Given the description of an element on the screen output the (x, y) to click on. 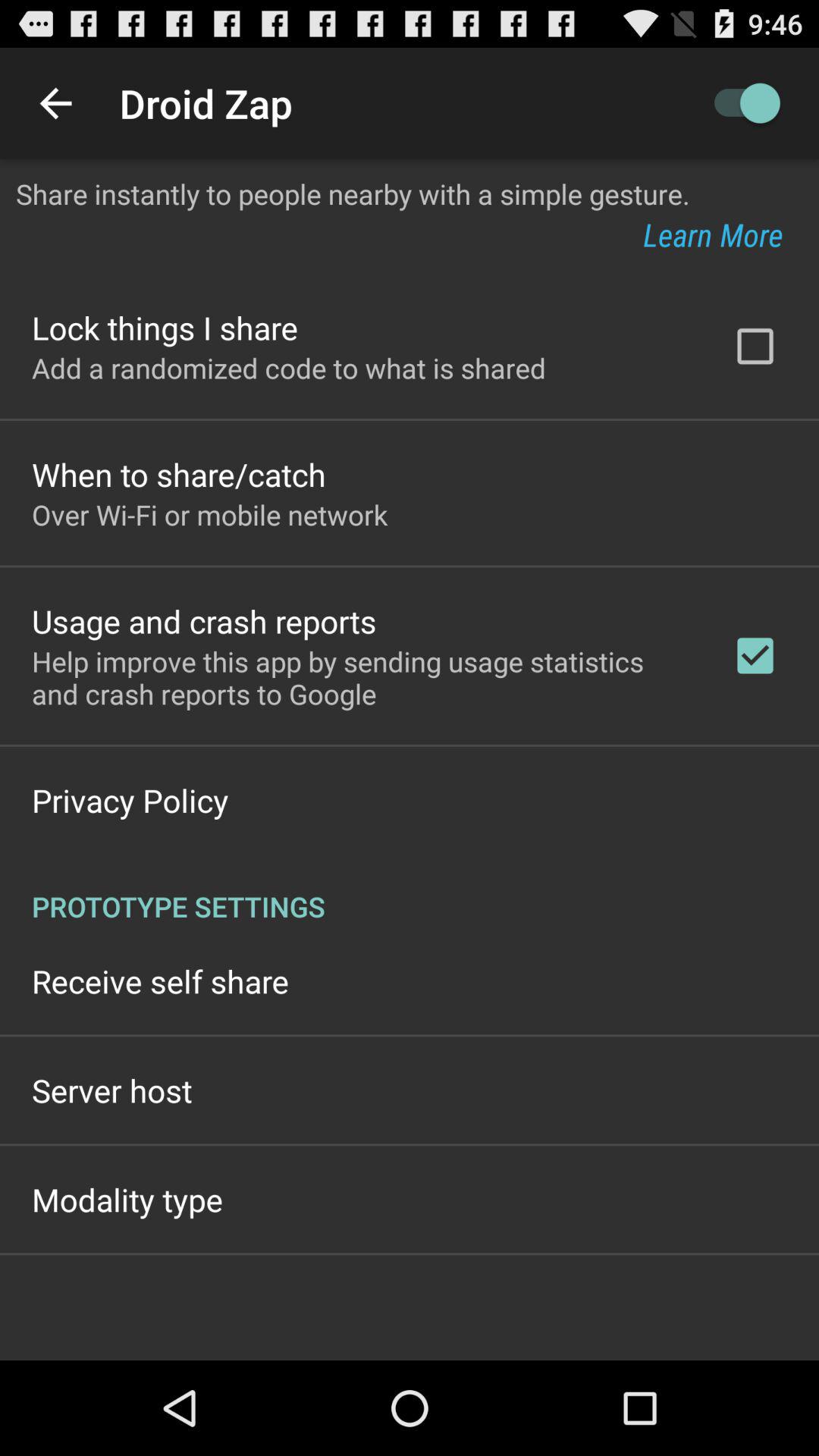
turn on the item above privacy policy icon (361, 677)
